Given the description of an element on the screen output the (x, y) to click on. 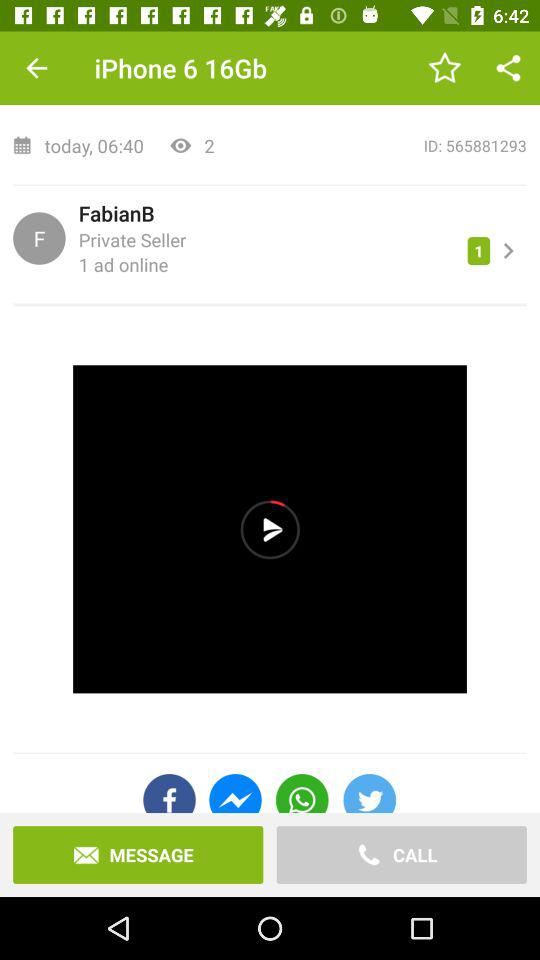
tap item above the today, 06:40 (36, 68)
